Given the description of an element on the screen output the (x, y) to click on. 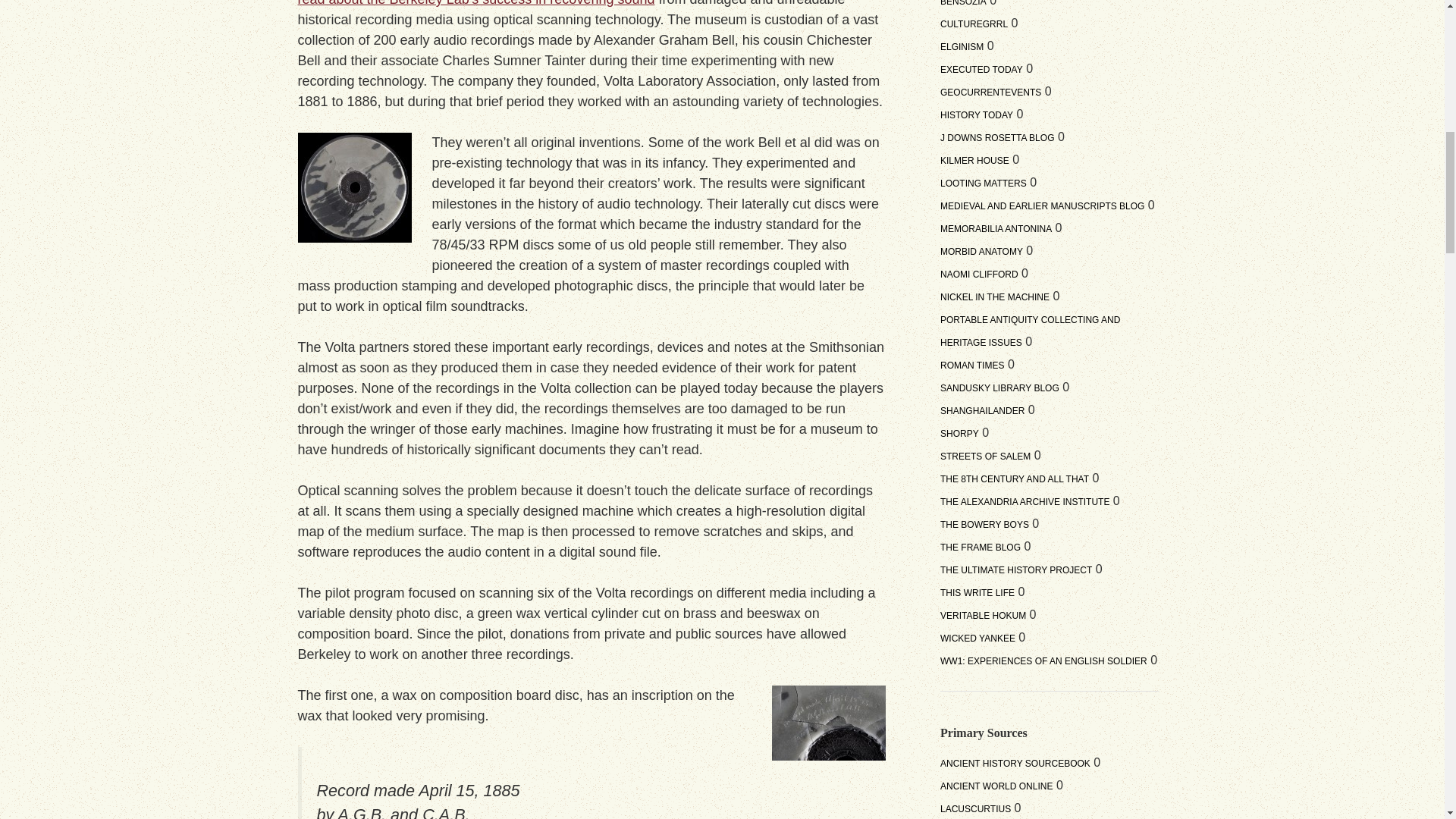
Inscription detail from the disc (828, 722)
Phonorecord with the voice of Alexander Graham Bell (353, 187)
